Given the description of an element on the screen output the (x, y) to click on. 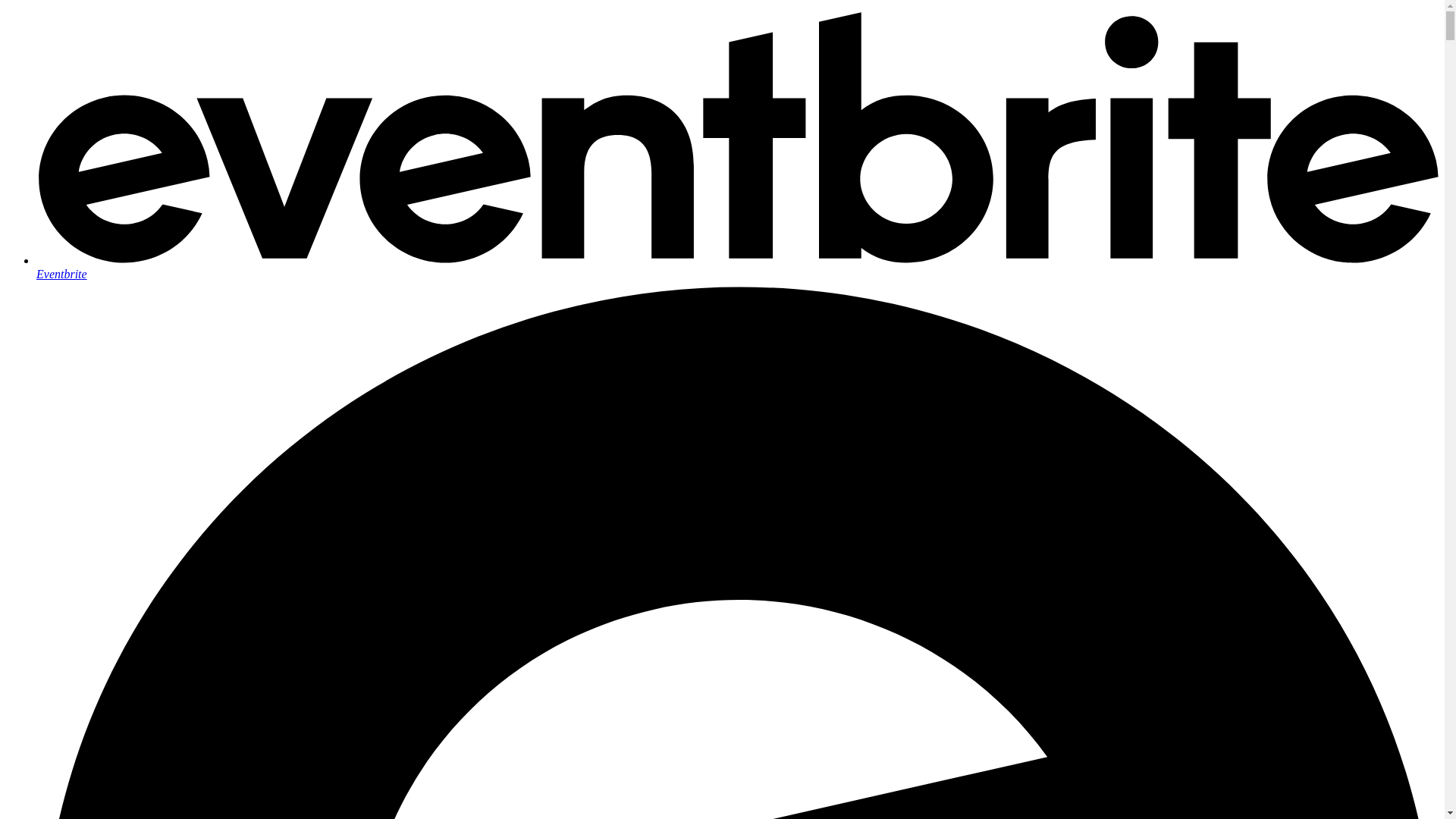
Eventbrite Element type: text (737, 267)
